Given the description of an element on the screen output the (x, y) to click on. 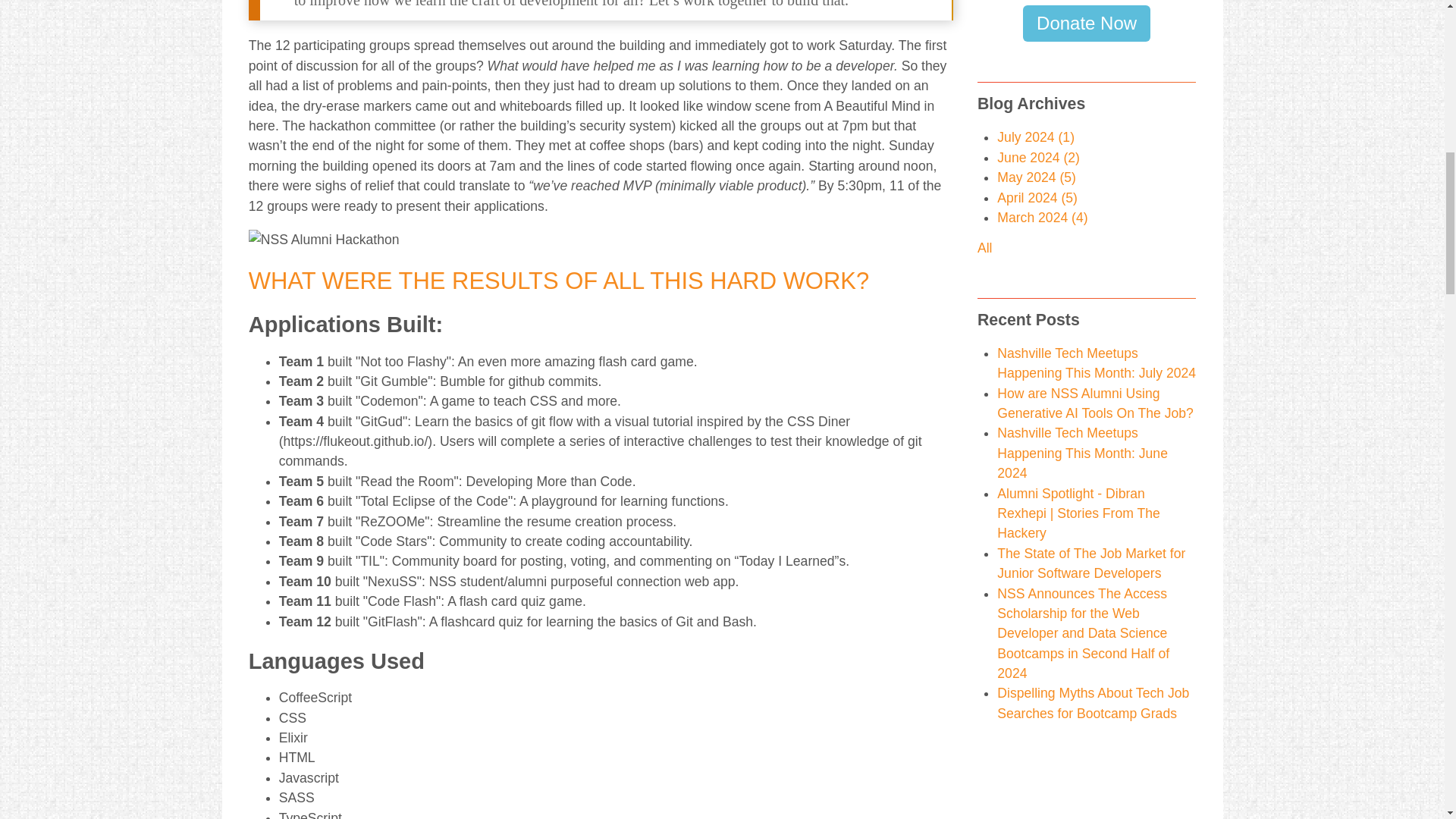
Donate Now (1086, 22)
